Given the description of an element on the screen output the (x, y) to click on. 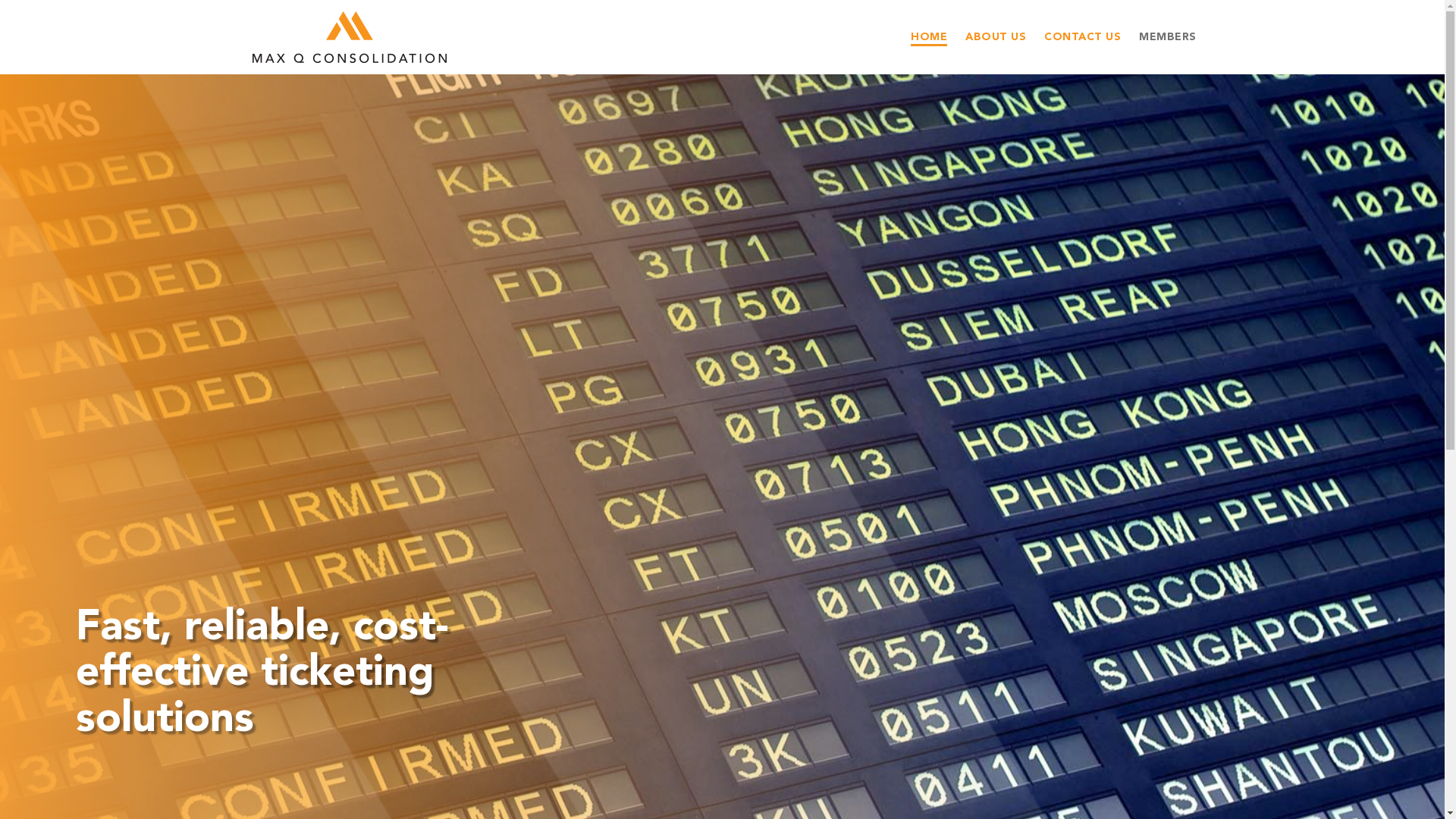
Max Q Consolidation Element type: hover (348, 37)
login Element type: text (691, 93)
forgot Element type: text (865, 93)
ABOUT US Element type: text (995, 35)
registernew Element type: text (760, 93)
HOME Element type: text (928, 35)
CONTACT US Element type: text (1082, 35)
MEMBERS Element type: text (1167, 35)
